Given the description of an element on the screen output the (x, y) to click on. 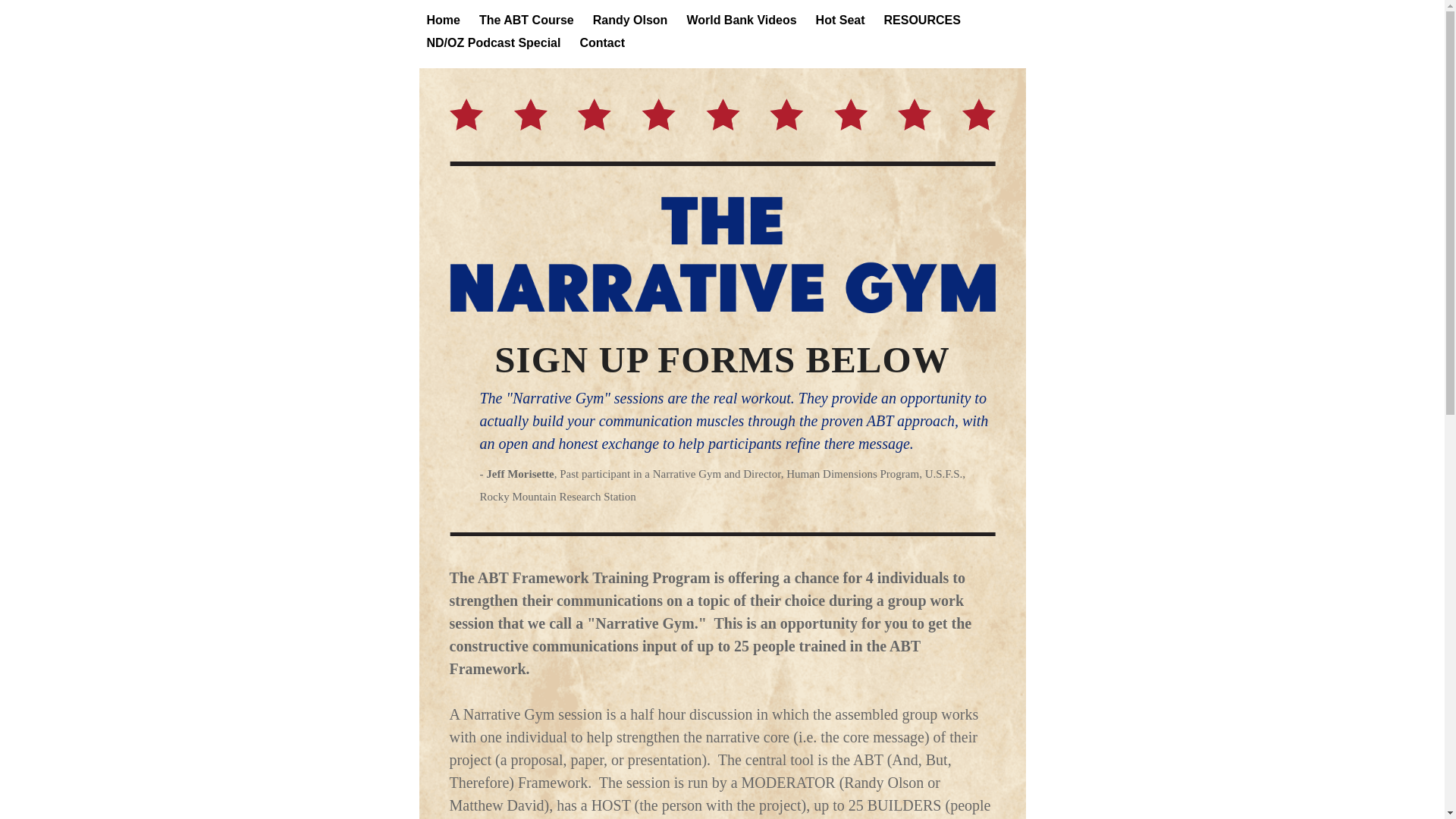
Home (443, 20)
The ABT Course (525, 20)
